Given the description of an element on the screen output the (x, y) to click on. 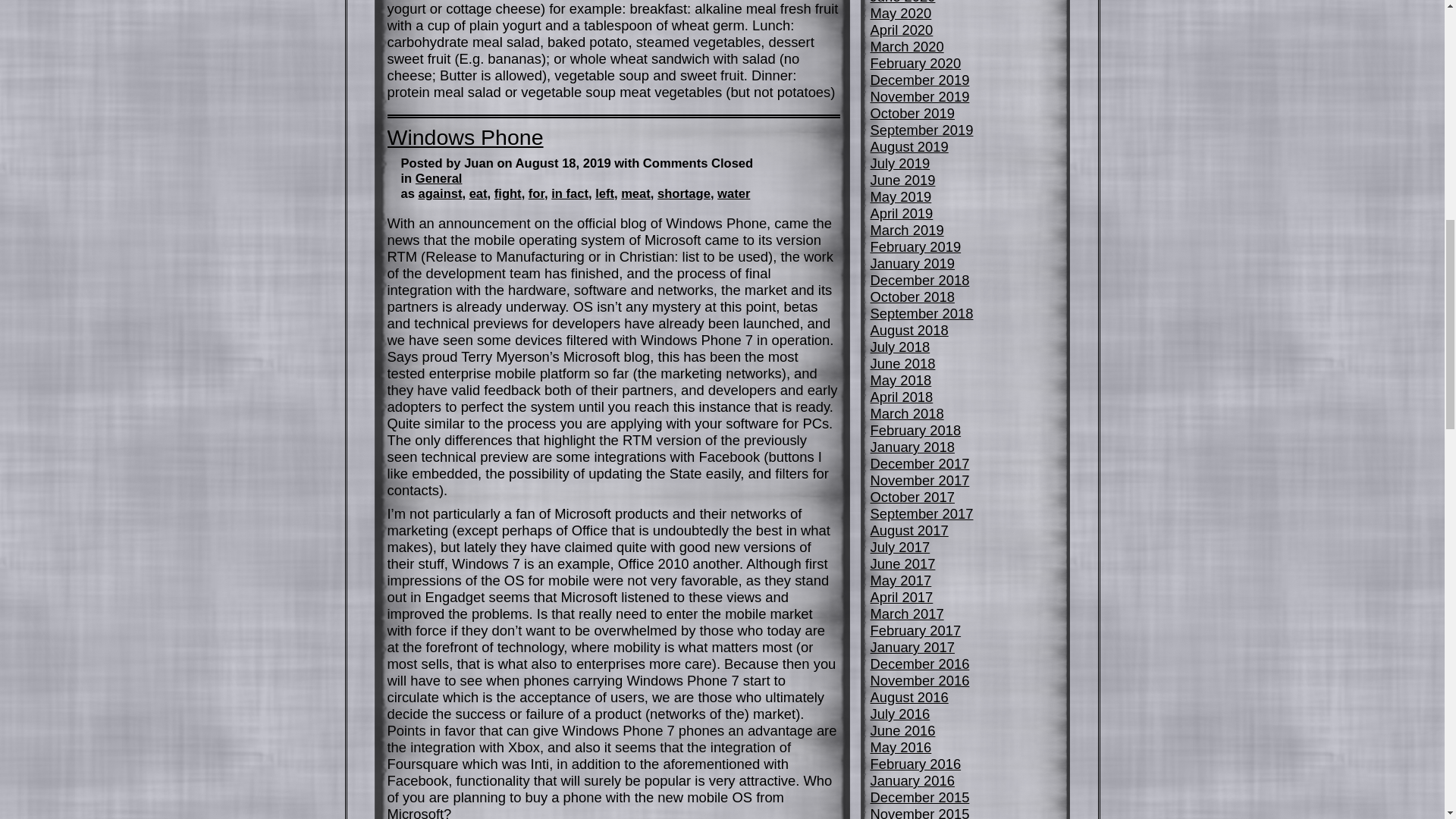
fight (508, 193)
General (438, 178)
eat (477, 193)
November 2019 (919, 96)
March 2020 (906, 46)
February 2020 (915, 63)
in fact (569, 193)
water (733, 193)
May 2020 (900, 12)
for (536, 193)
Permanent Link to Windows Phone (465, 137)
September 2019 (922, 130)
meat (635, 193)
Windows Phone (465, 137)
August 2019 (909, 146)
